Given the description of an element on the screen output the (x, y) to click on. 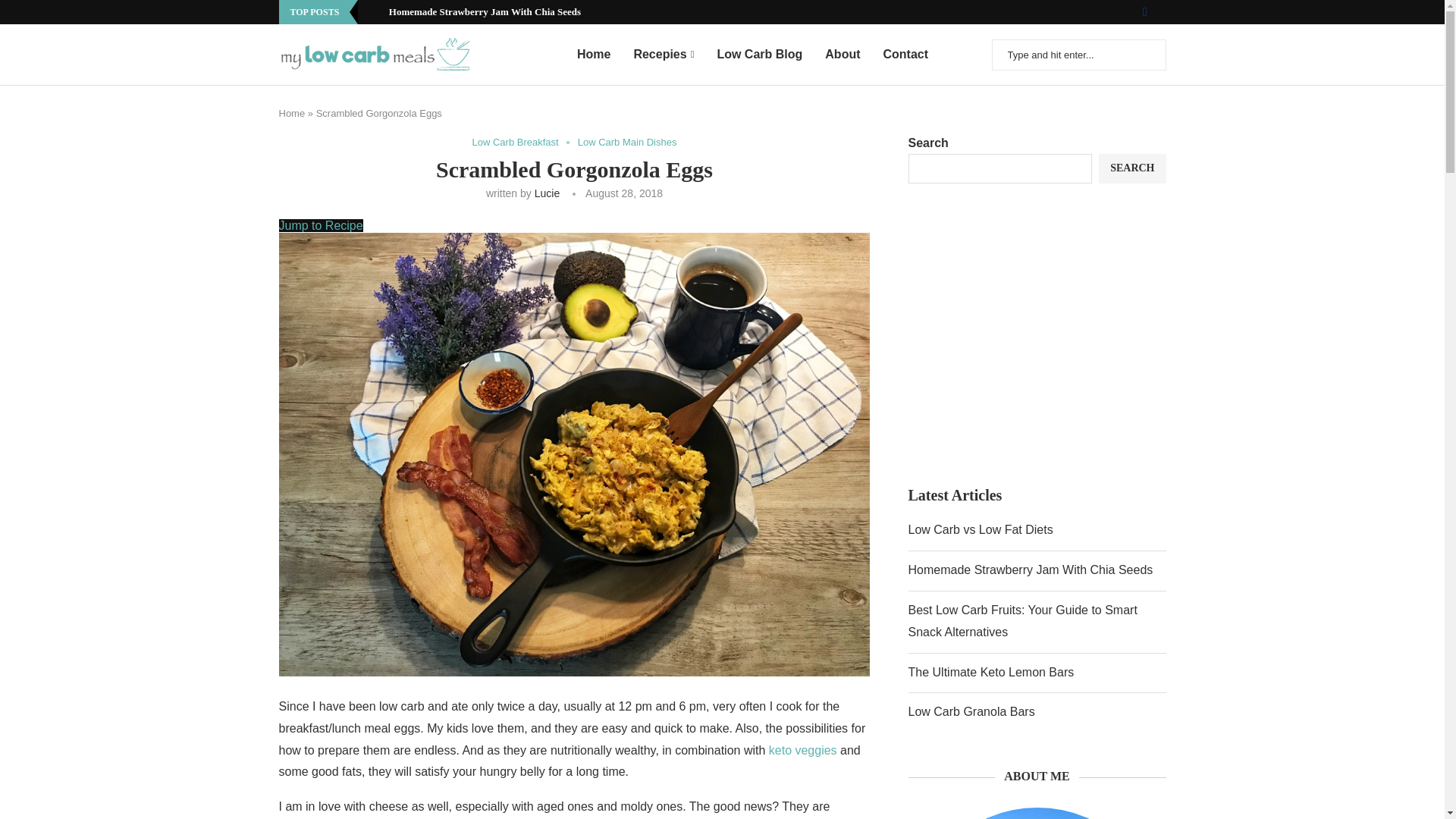
Recepies (663, 54)
Homemade Strawberry Jam With Chia Seeds (484, 12)
